Given the description of an element on the screen output the (x, y) to click on. 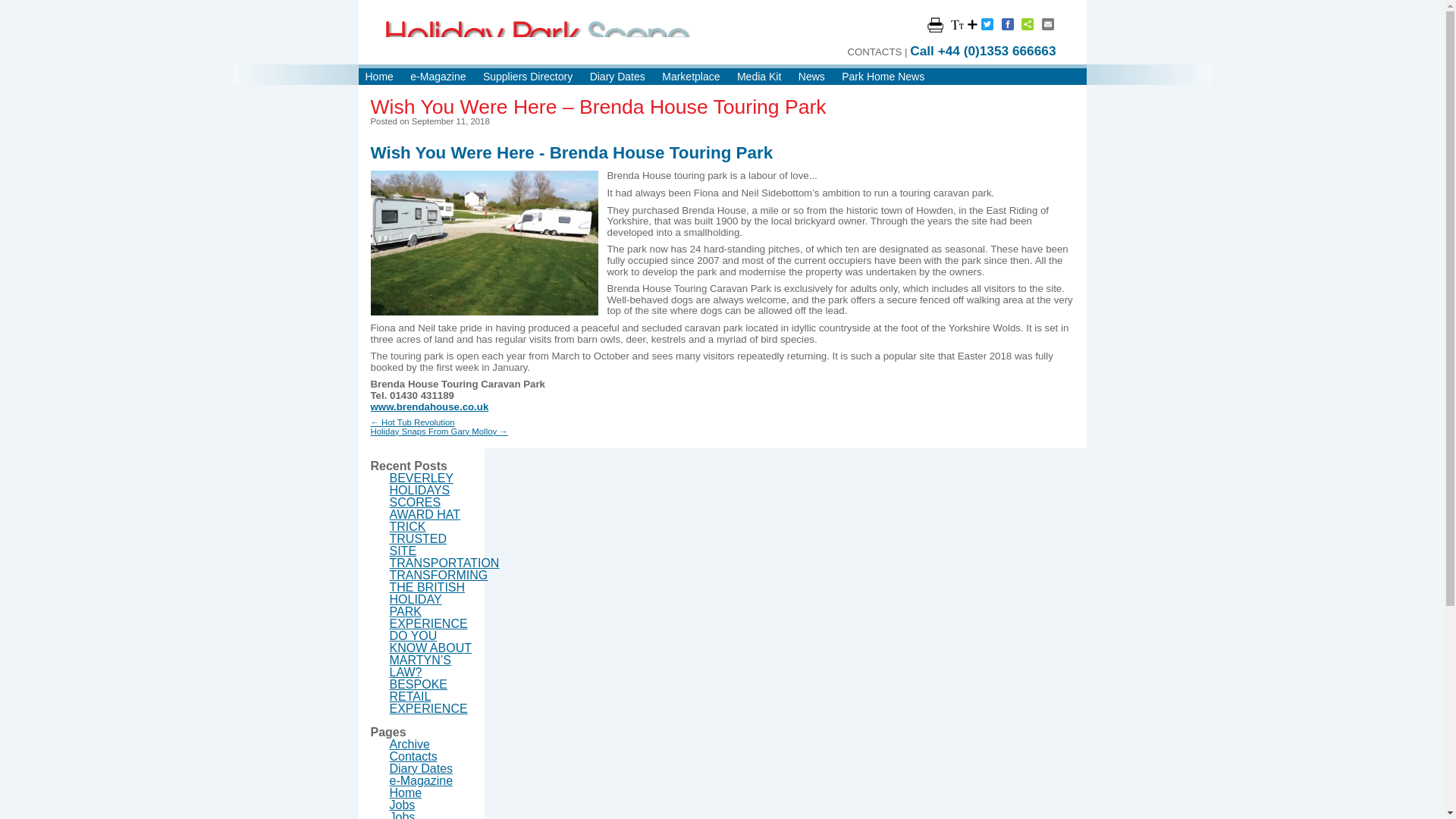
Holiday Park Scene Magazine (538, 38)
TRANSFORMING THE BRITISH HOLIDAY PARK EXPERIENCE (438, 598)
e-Magazine (437, 76)
Diary Dates (421, 768)
Contacts (414, 756)
CONTACTS (874, 51)
www.brendahouse.co.uk (428, 406)
Home (379, 76)
Media Kit (758, 76)
Holiday Park Scene Magazine (538, 38)
